Given the description of an element on the screen output the (x, y) to click on. 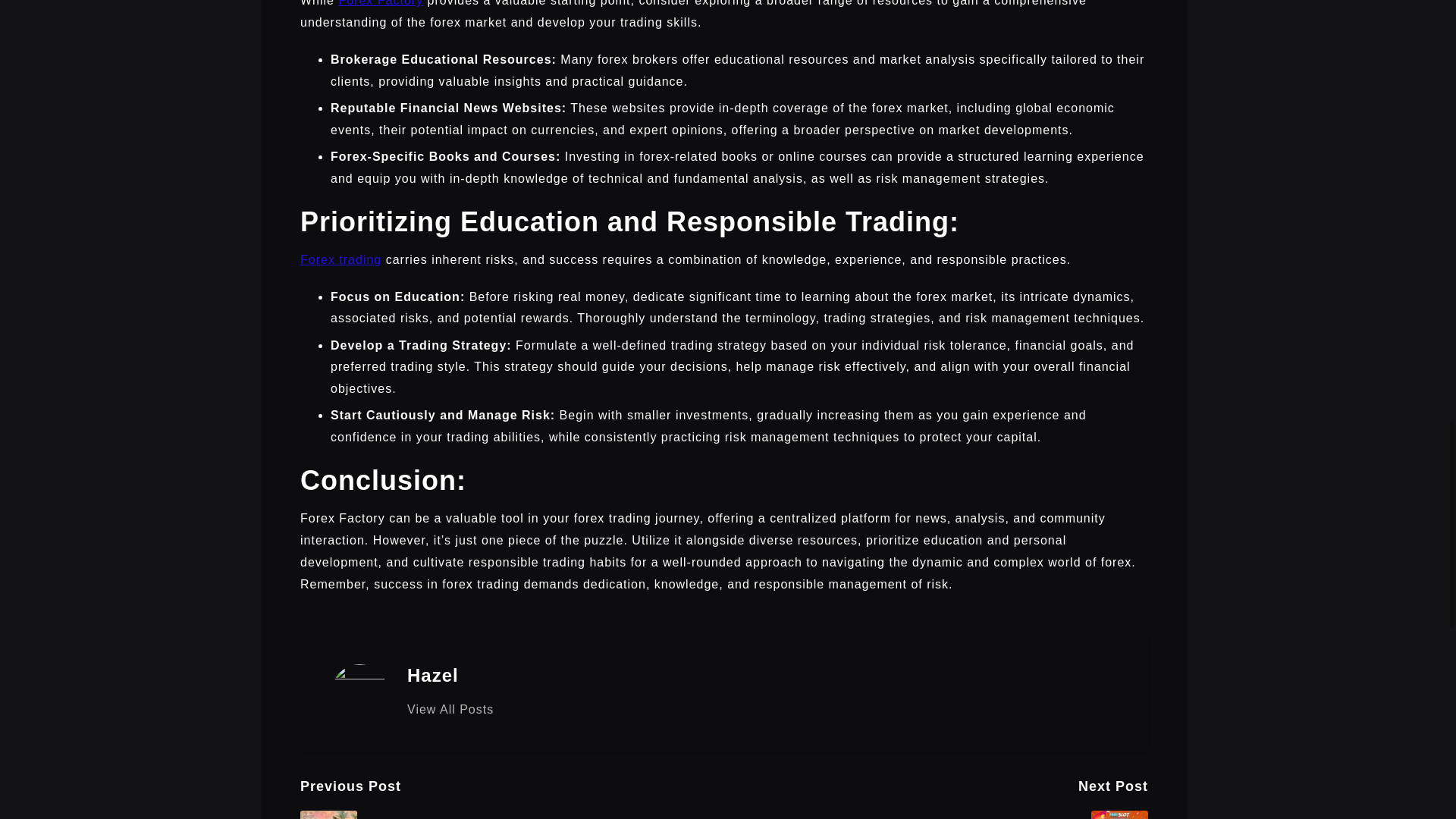
How Does Slot Gacor Work? (935, 814)
Forex Factory (380, 3)
Hazel (432, 675)
Forex trading (340, 259)
View All Posts (450, 710)
